Given the description of an element on the screen output the (x, y) to click on. 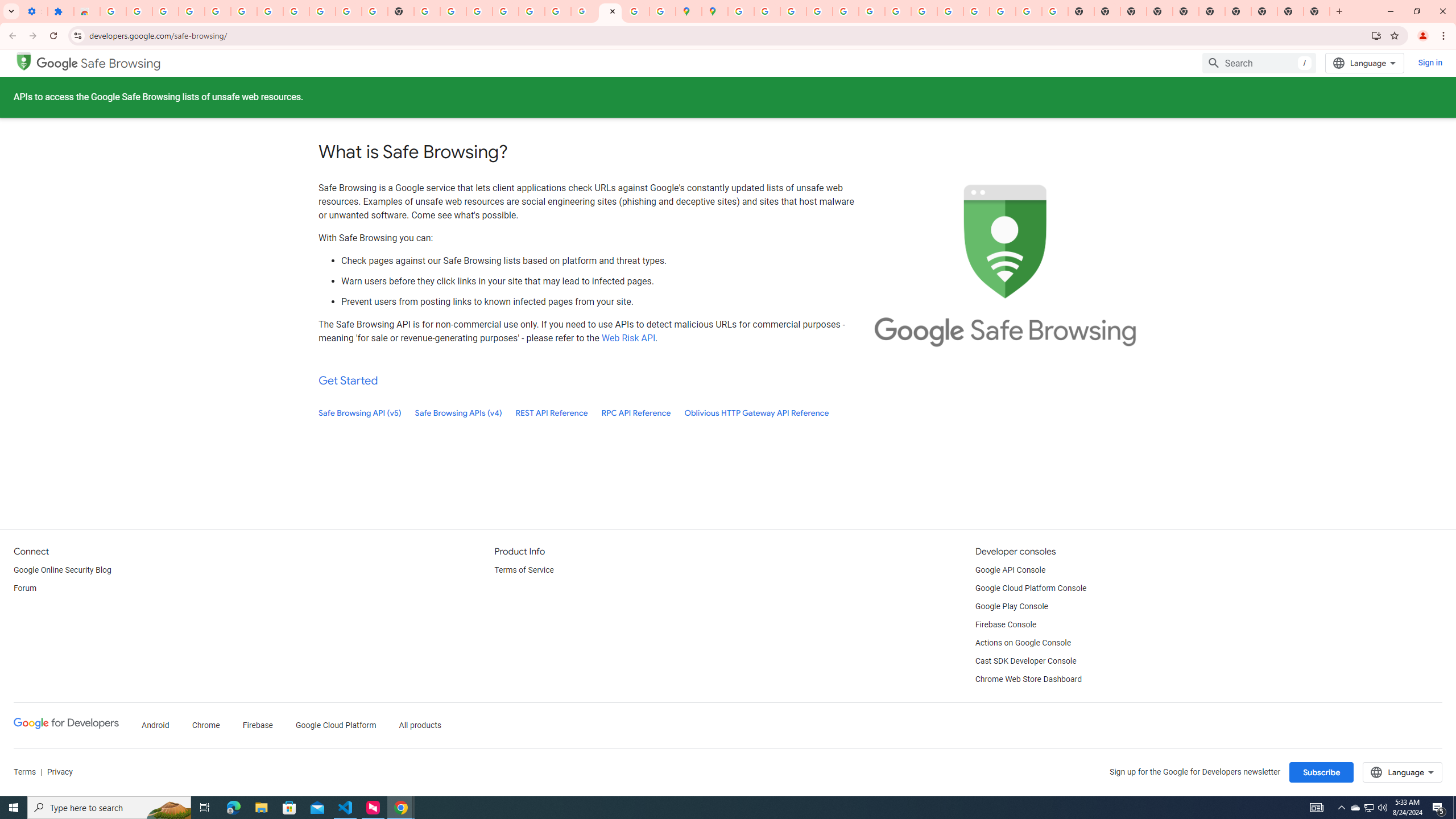
Install Google Developers (1376, 35)
YouTube (348, 11)
Firebase Console (1005, 624)
Subscribe (1322, 772)
Get Started (348, 380)
Search (1258, 63)
Google Cloud Platform Console (1030, 588)
Extensions (60, 11)
Delete photos & videos - Computer - Google Photos Help (191, 11)
